Given the description of an element on the screen output the (x, y) to click on. 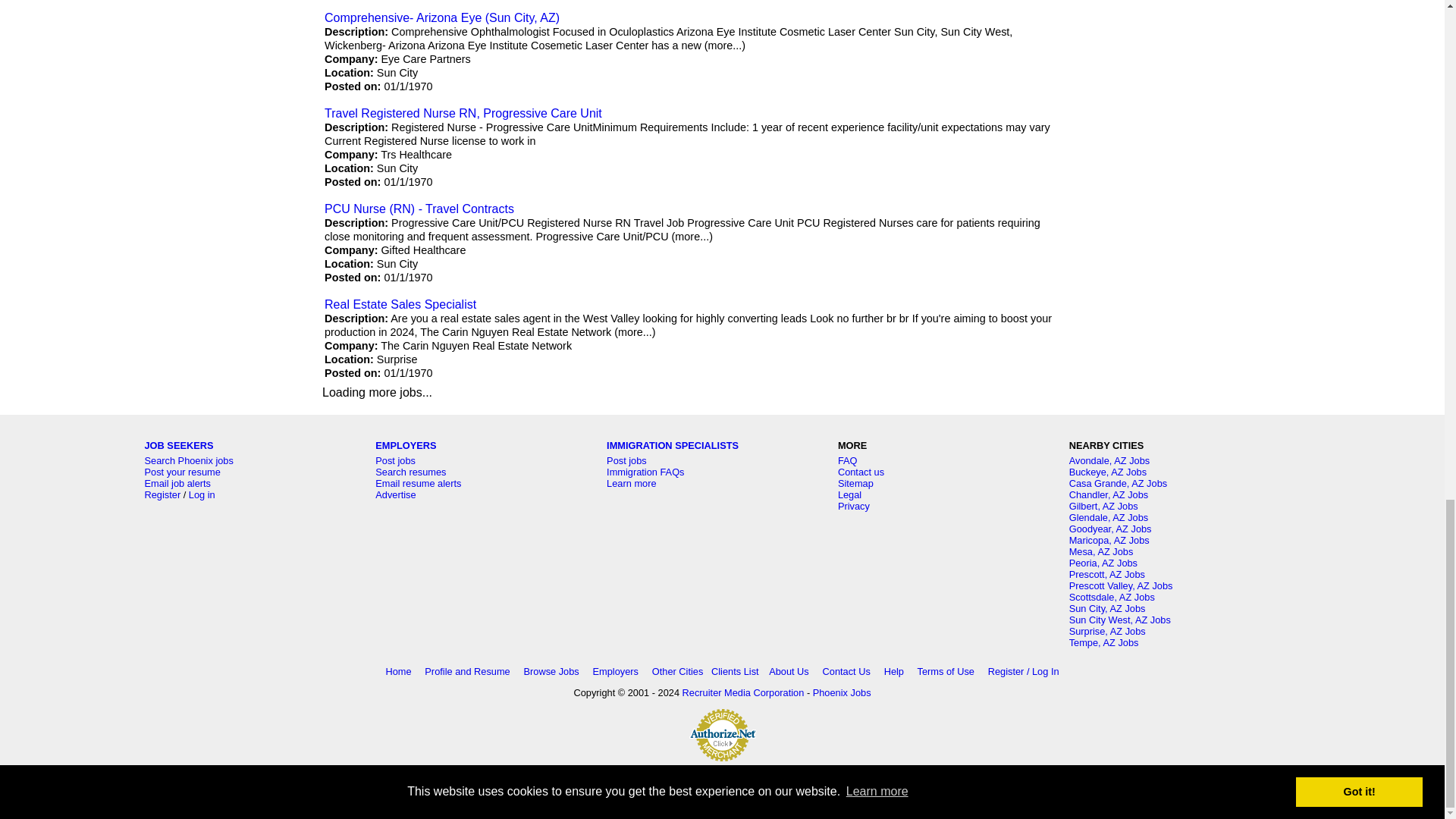
Travel Registered Nurse RN, Progressive Care Unit (463, 113)
Real Estate Sales Specialist (400, 304)
